Given the description of an element on the screen output the (x, y) to click on. 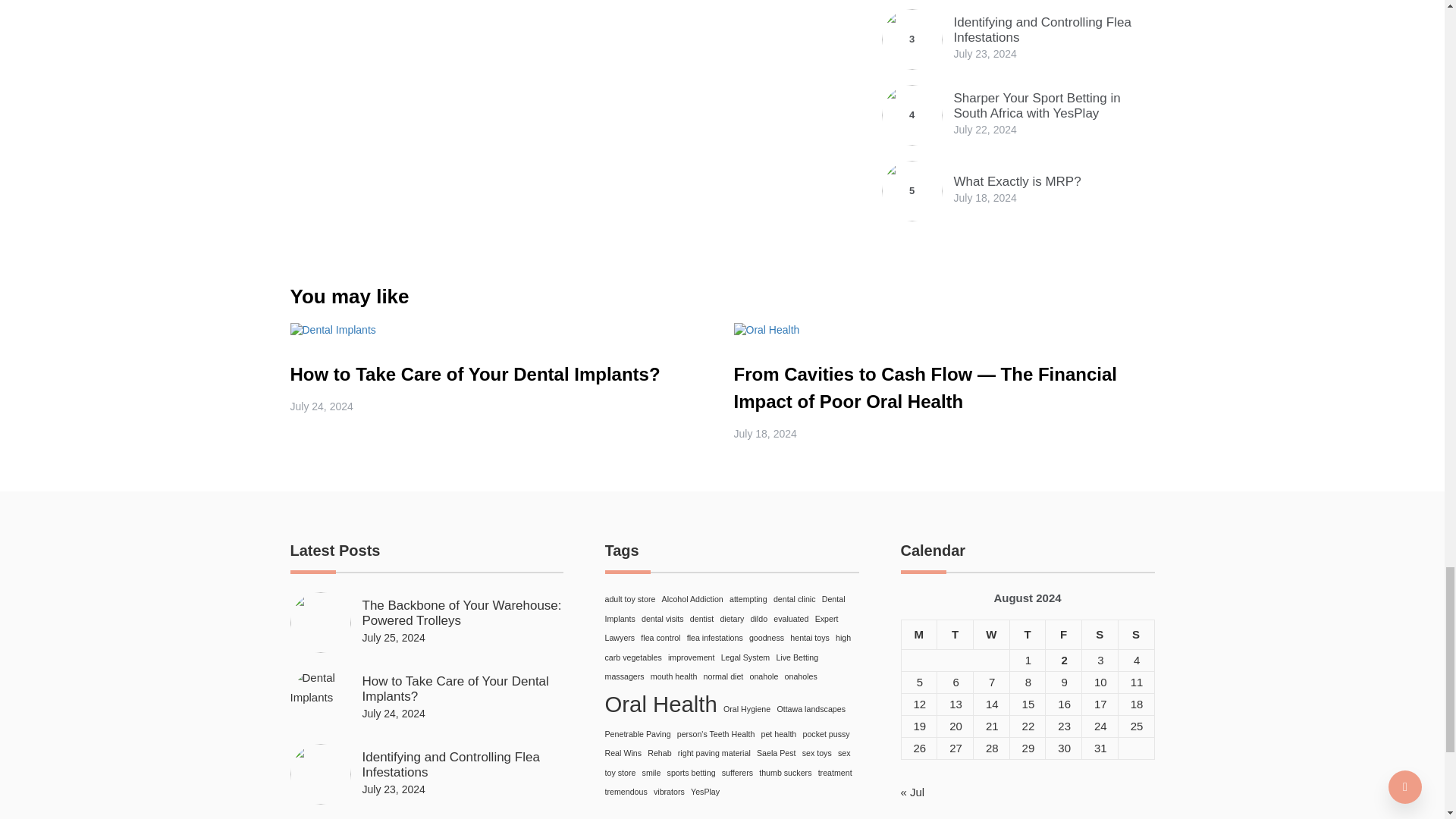
Tuesday (955, 634)
Friday (1063, 634)
Sunday (1136, 634)
Saturday (1099, 634)
Wednesday (990, 634)
Monday (919, 634)
Thursday (1027, 634)
